Given the description of an element on the screen output the (x, y) to click on. 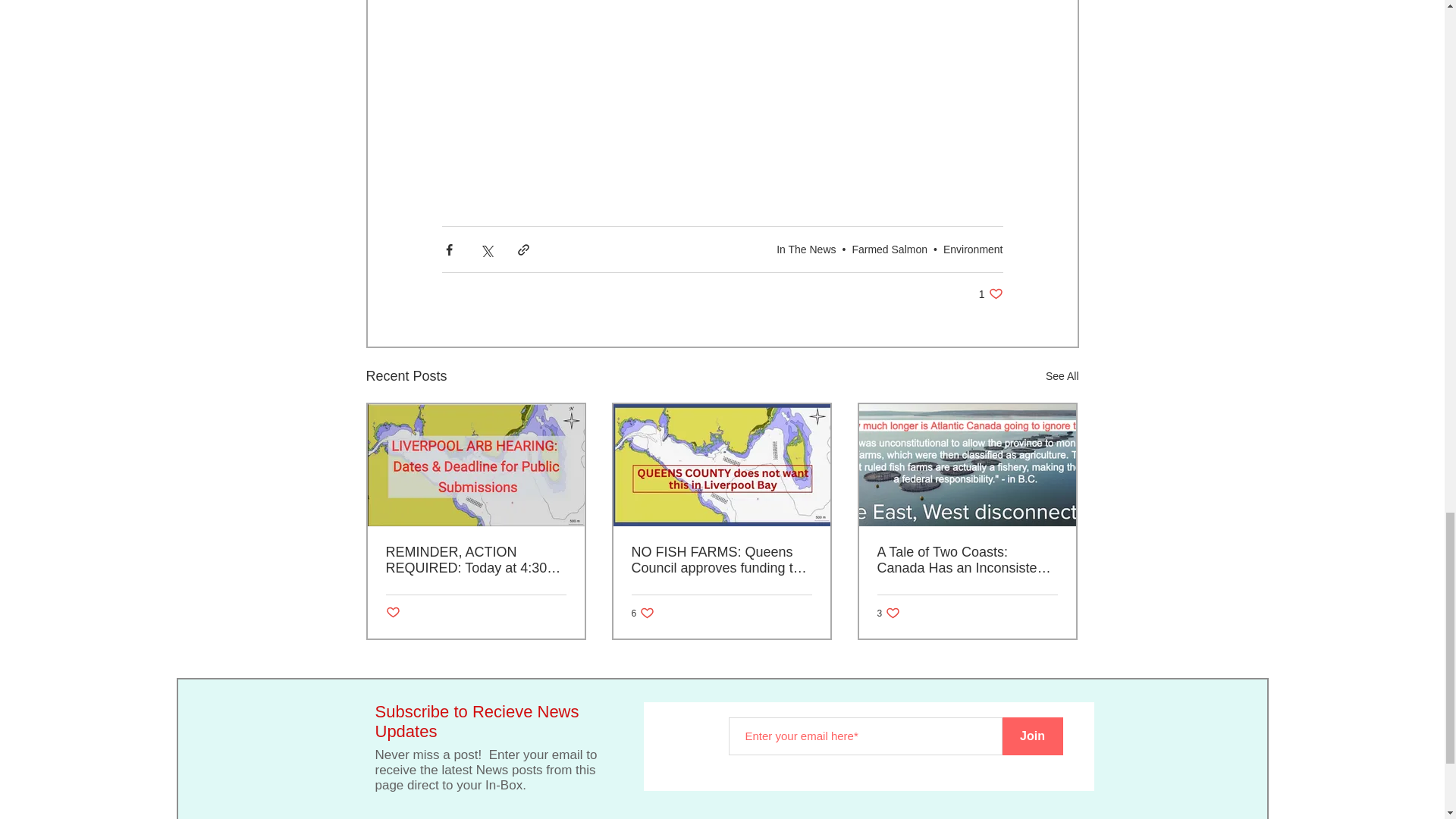
In The News (805, 248)
Post not marked as liked (641, 612)
Farmed Salmon (391, 612)
remote content (889, 248)
See All (722, 72)
Environment (990, 293)
